Given the description of an element on the screen output the (x, y) to click on. 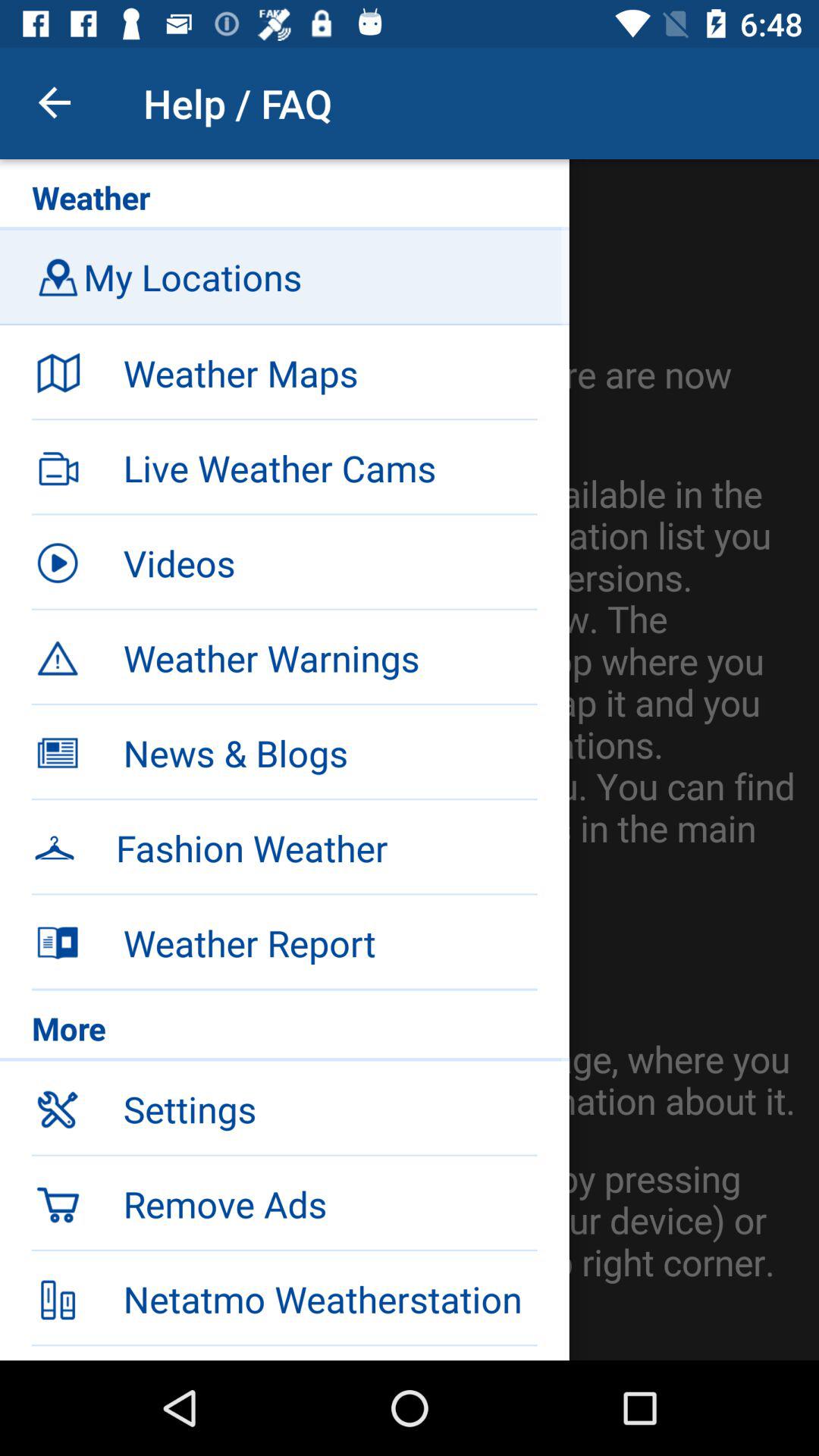
flip until the my locations item (290, 276)
